Given the description of an element on the screen output the (x, y) to click on. 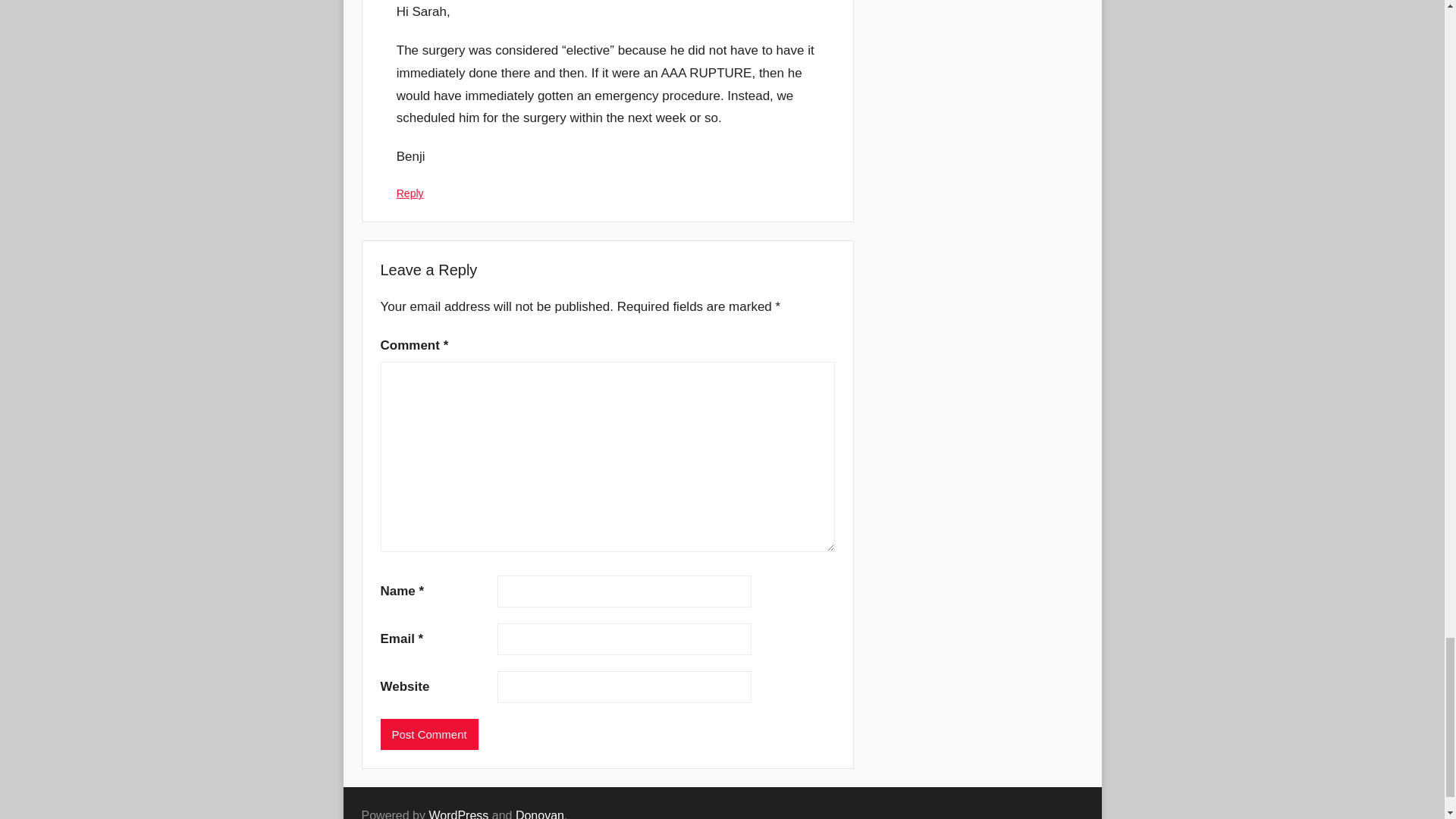
Post Comment (429, 734)
Reply (409, 193)
Post Comment (429, 734)
